Given the description of an element on the screen output the (x, y) to click on. 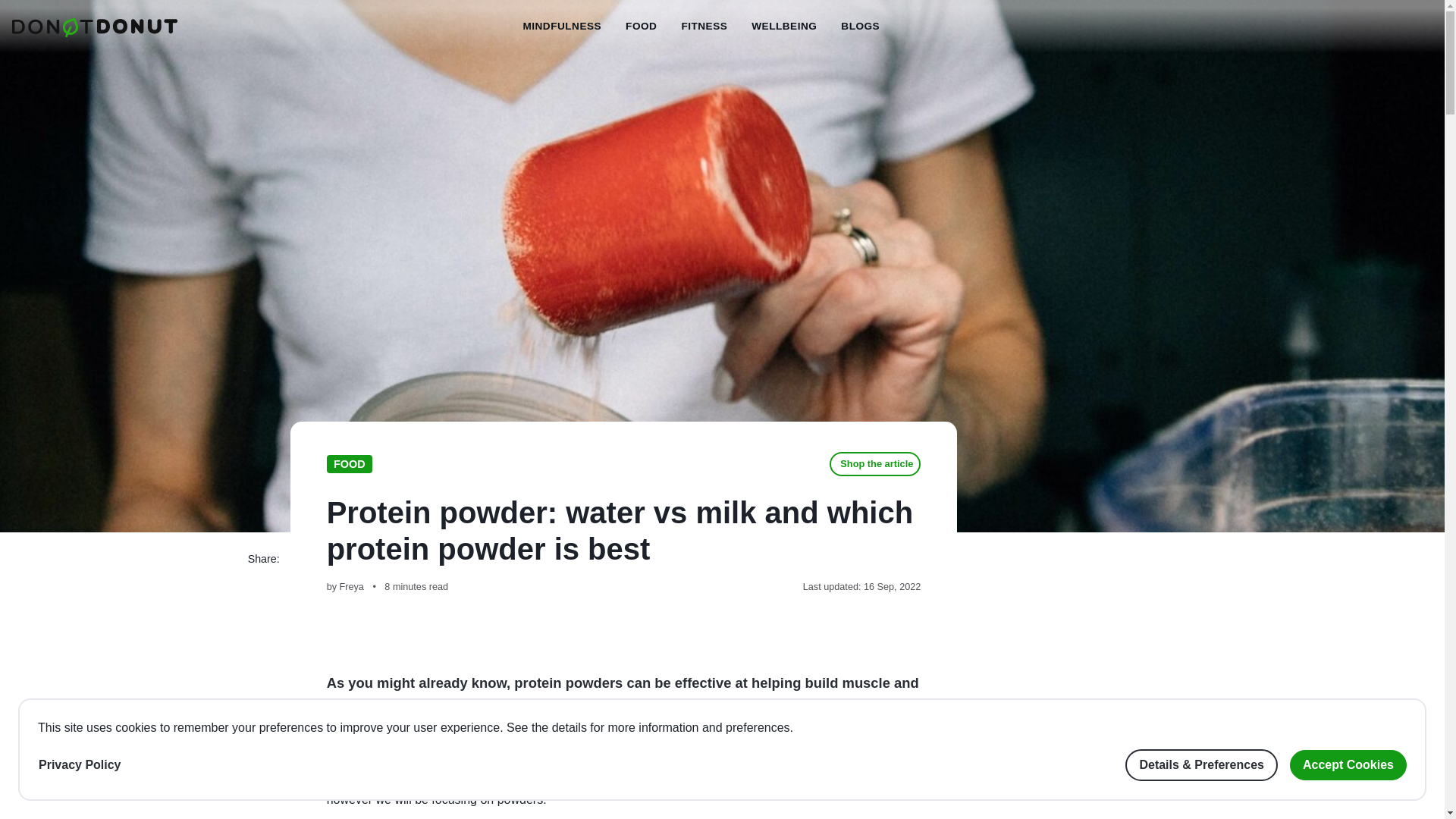
MINDFULNESS (561, 26)
Fitness (703, 26)
FITNESS (703, 26)
Shop the article (874, 463)
BLOGS (859, 26)
FOOD (640, 26)
WELLBEING (783, 26)
FOOD (349, 463)
Wellbeing (783, 26)
Health (859, 26)
Food (640, 26)
mindfulness (561, 26)
